Given the description of an element on the screen output the (x, y) to click on. 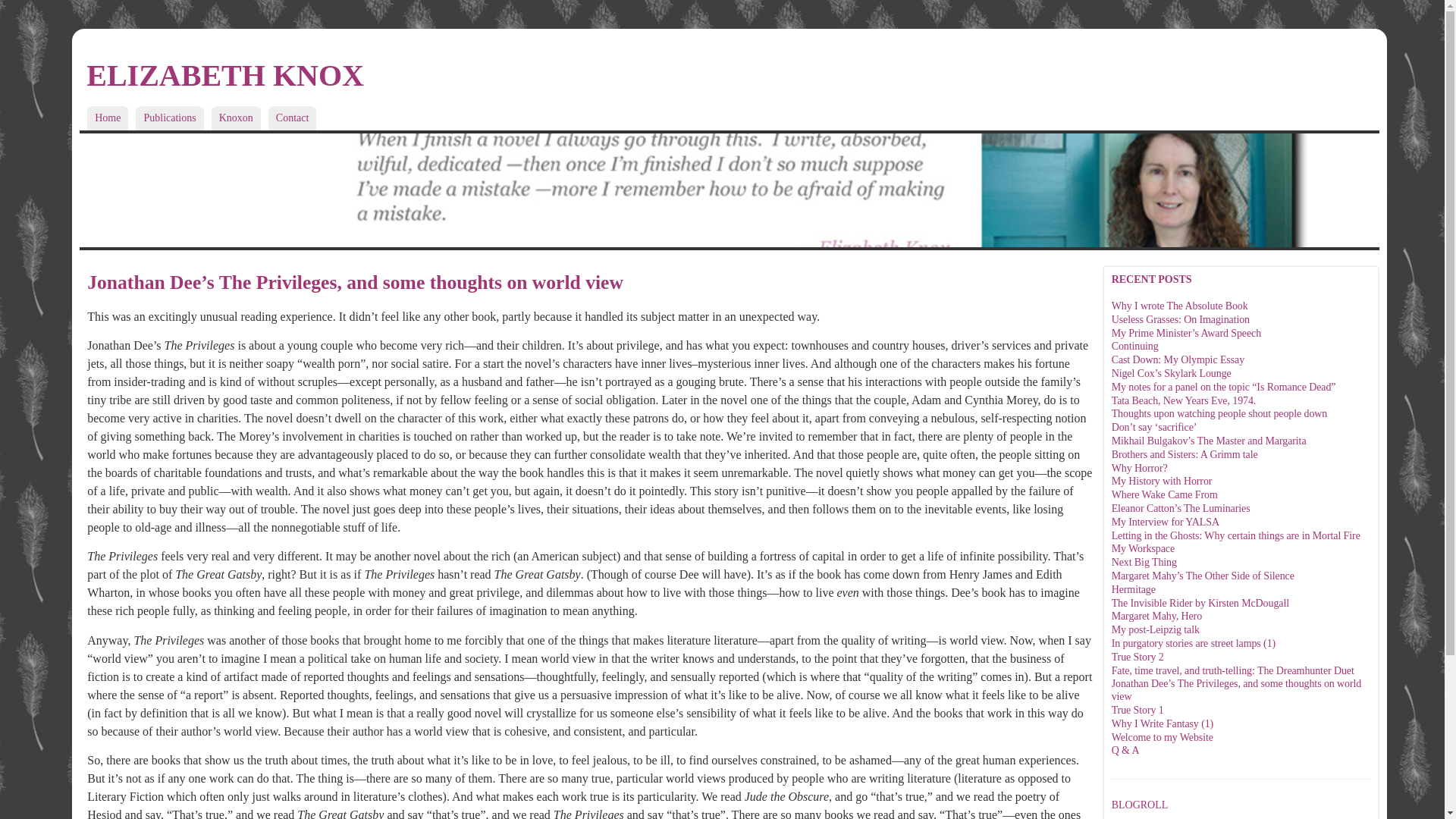
Fate, time travel, and truth-telling: The Dreamhunter Duet (1233, 670)
Tata Beach, New Years Eve, 1974. (1184, 400)
Why I wrote The Absolute Book (1179, 306)
True Story 1 (1137, 709)
ELIZABETH KNOX (224, 75)
Contact (292, 118)
Next Big Thing (1144, 562)
Publications (169, 118)
Useless Grasses: On Imagination (1180, 319)
Thoughts upon watching people shout people down (1219, 413)
My Interview for YALSA (1166, 521)
The Invisible Rider by Kirsten McDougall (1200, 603)
Knoxon (235, 118)
Letting in the Ghosts: Why certain things are in Mortal Fire (1235, 535)
Where Wake Came From (1164, 494)
